Given the description of an element on the screen output the (x, y) to click on. 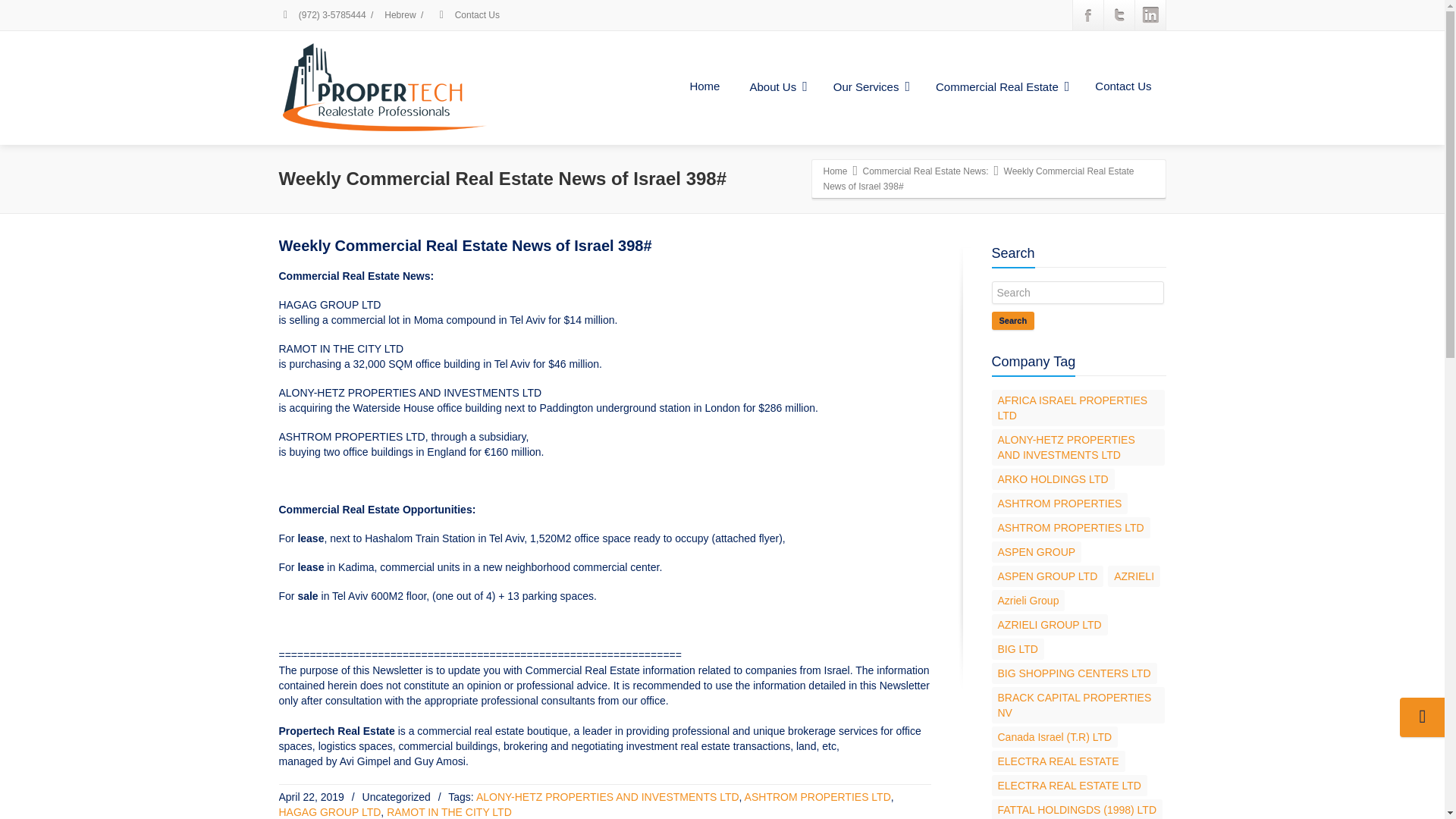
Twitter (1118, 15)
Contact Us (1123, 86)
ASHTROM PROPERTIES LTD (817, 797)
About Us (775, 87)
HAGAG GROUP LTD (330, 811)
Commercial Real Estate News: (925, 171)
Our Services (869, 87)
Linkedin (1149, 15)
Facebook (1086, 15)
ALONY-HETZ PROPERTIES AND INVESTMENTS LTD (607, 797)
